Given the description of an element on the screen output the (x, y) to click on. 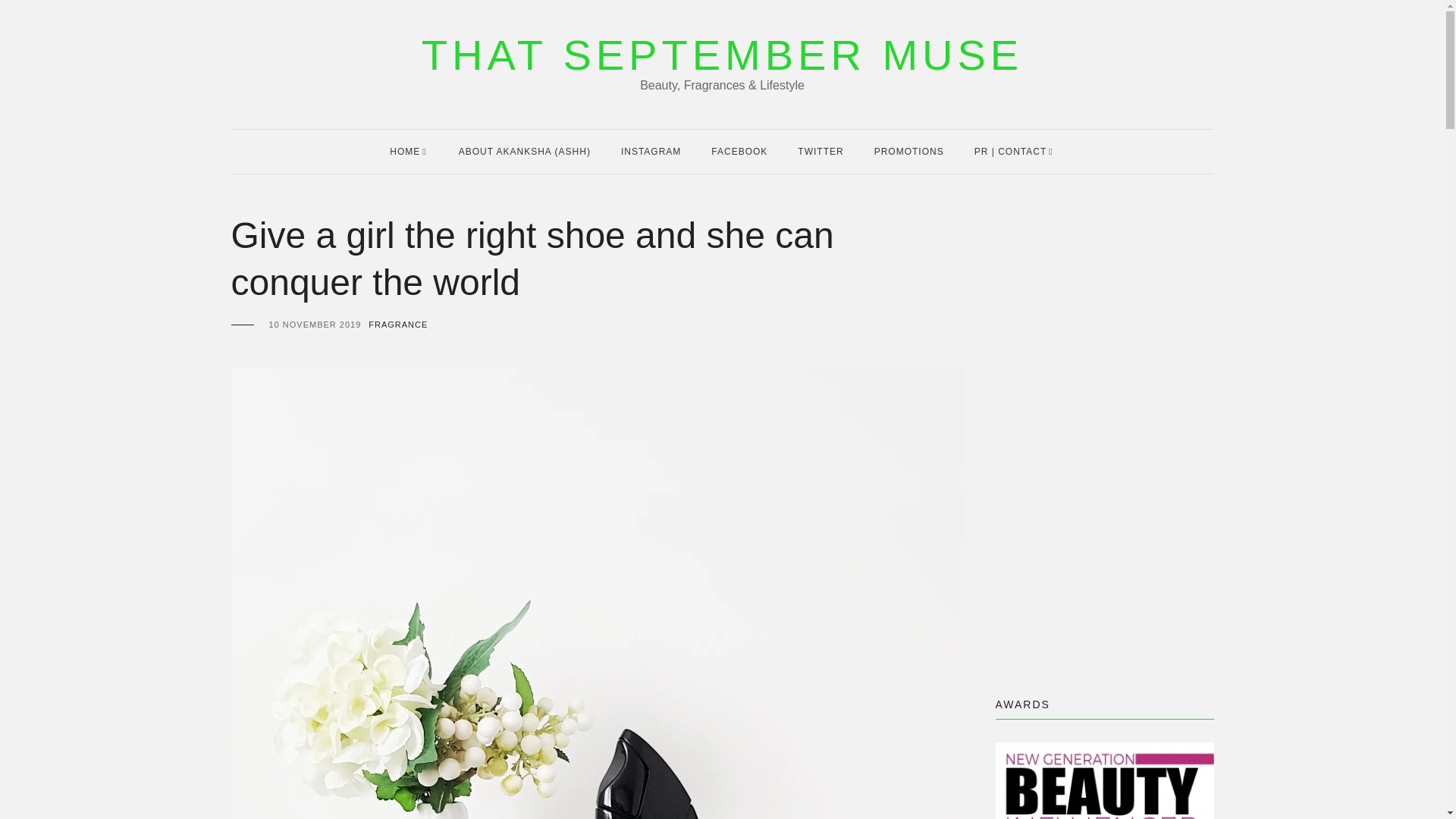
PROMOTIONS (909, 151)
FACEBOOK (739, 151)
TWITTER (820, 151)
FRAGRANCE (398, 324)
INSTAGRAM (651, 151)
THAT SEPTEMBER MUSE (722, 55)
